Given the description of an element on the screen output the (x, y) to click on. 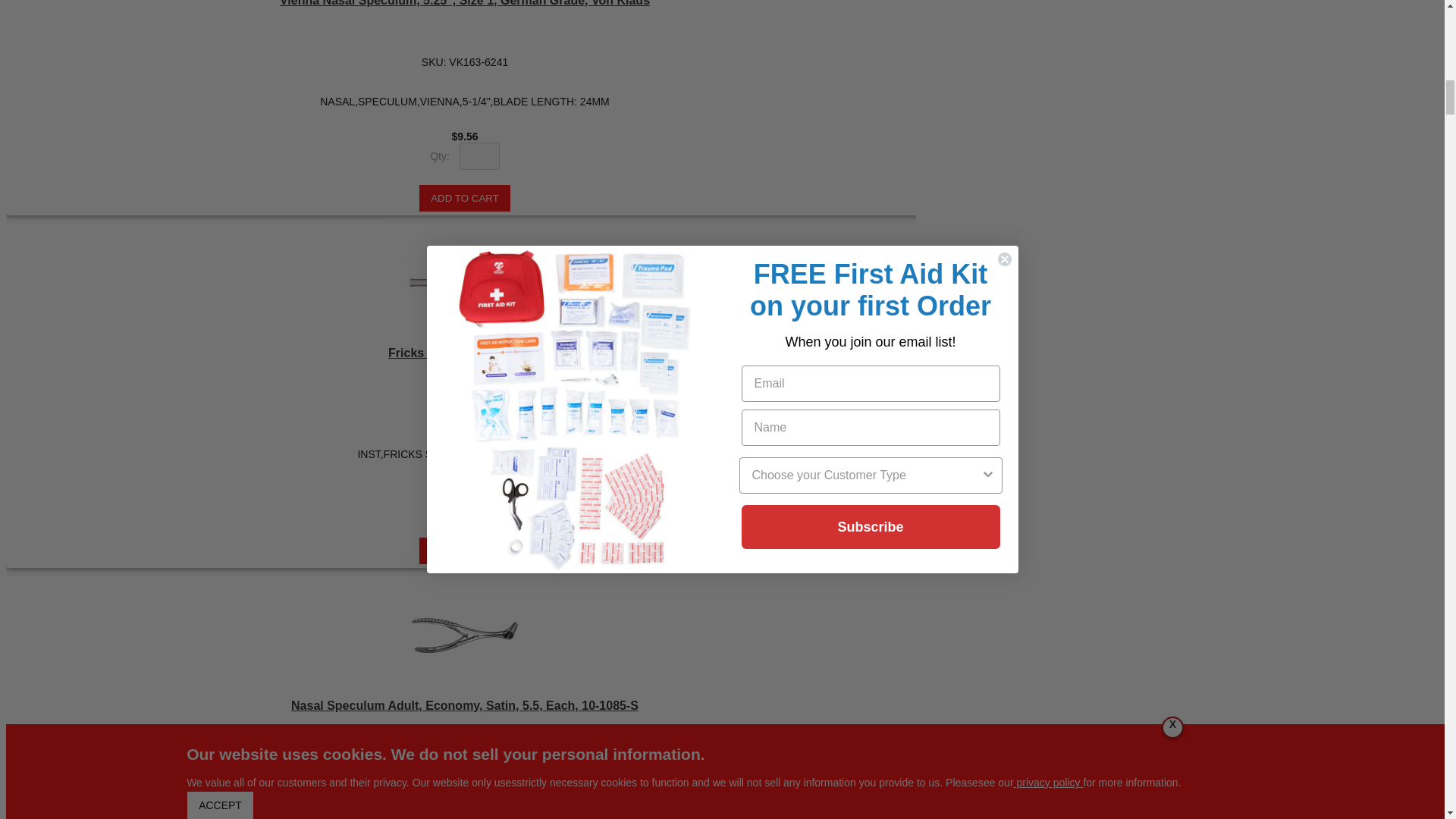
Add to cart (465, 198)
Add to cart (465, 550)
